Given the description of an element on the screen output the (x, y) to click on. 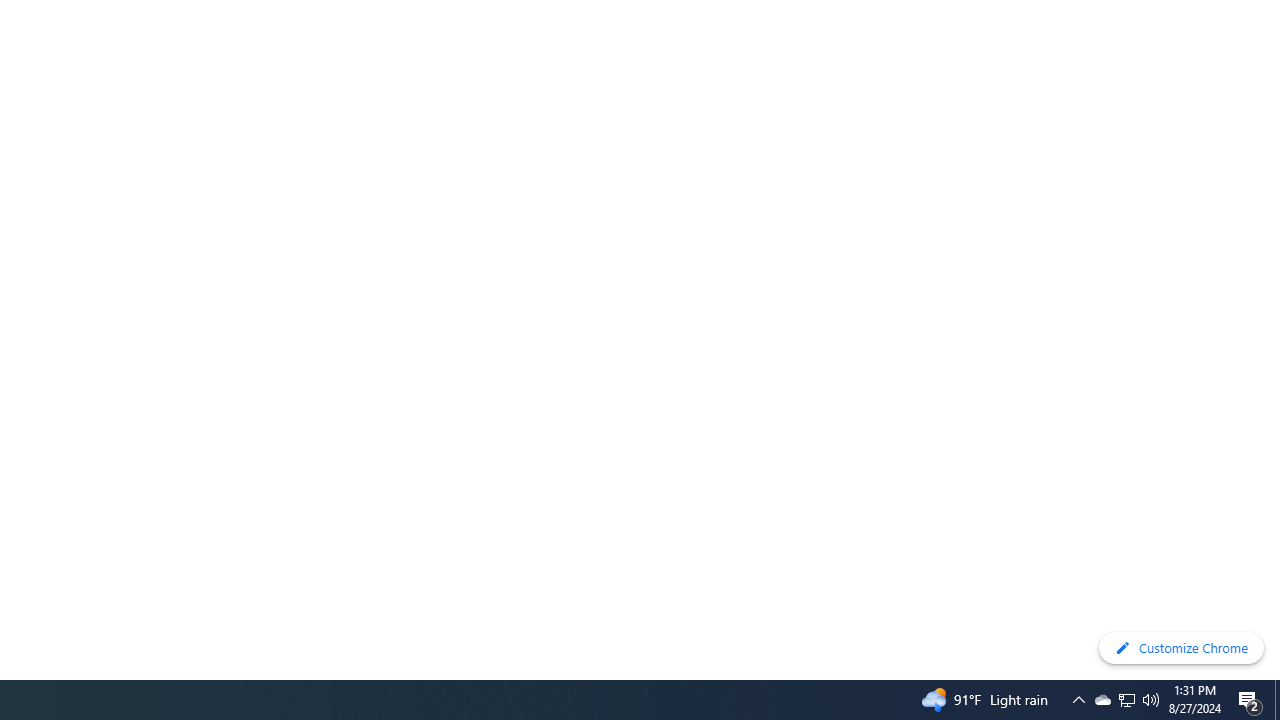
Customize Chrome (1181, 647)
